Given the description of an element on the screen output the (x, y) to click on. 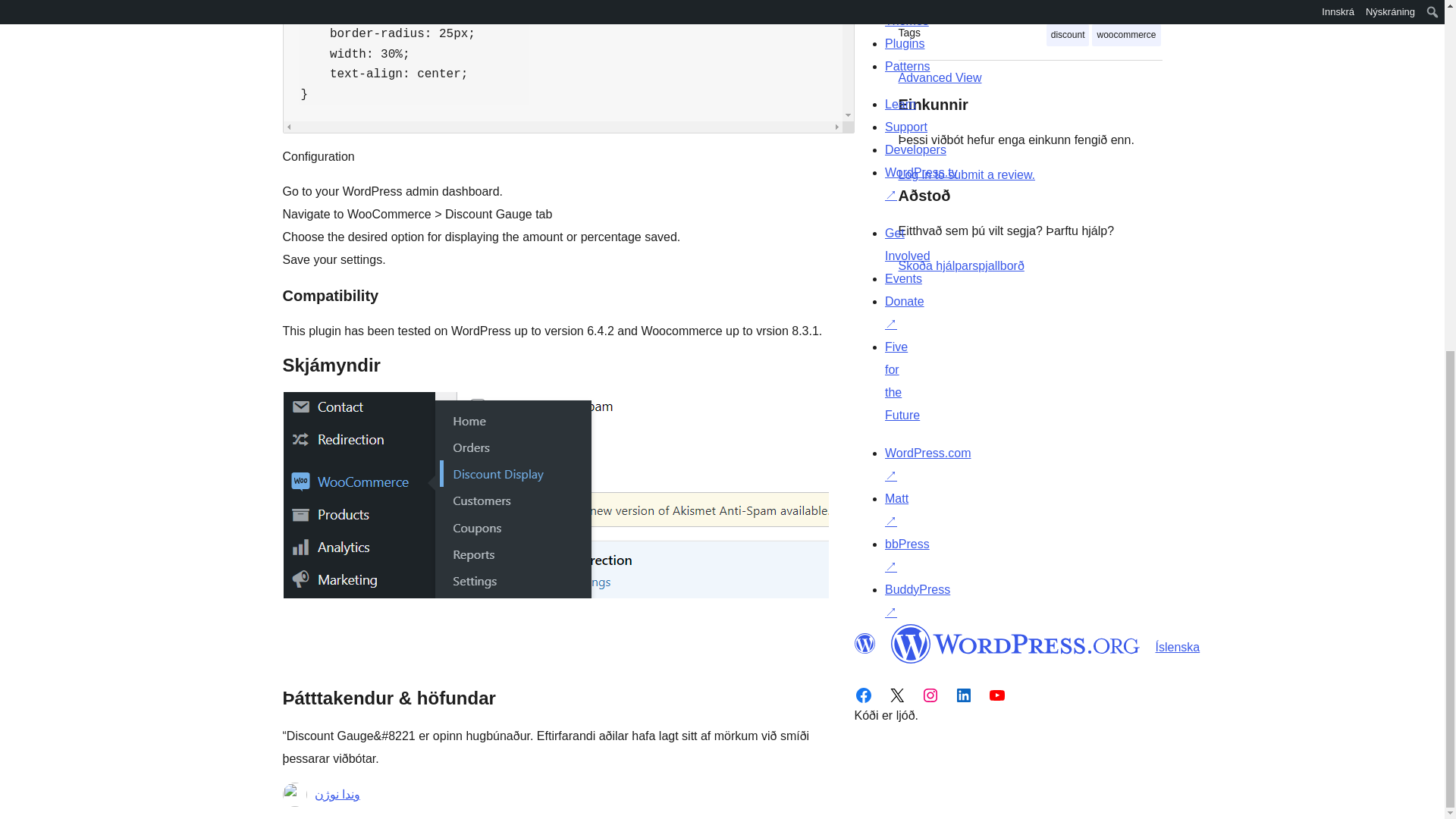
WordPress.org (864, 643)
Log in to WordPress.org (966, 174)
WordPress.org (1014, 643)
